Given the description of an element on the screen output the (x, y) to click on. 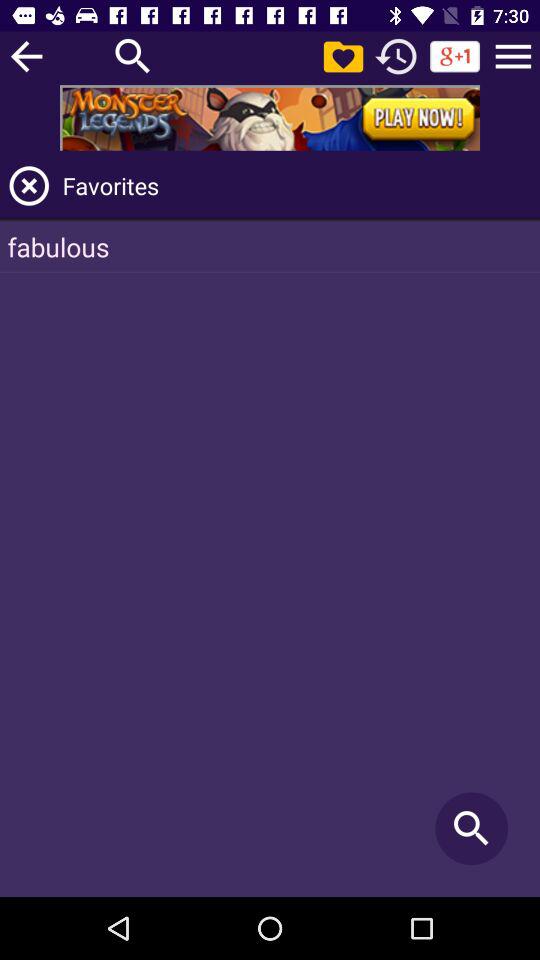
choose the app above favorites (270, 117)
